Given the description of an element on the screen output the (x, y) to click on. 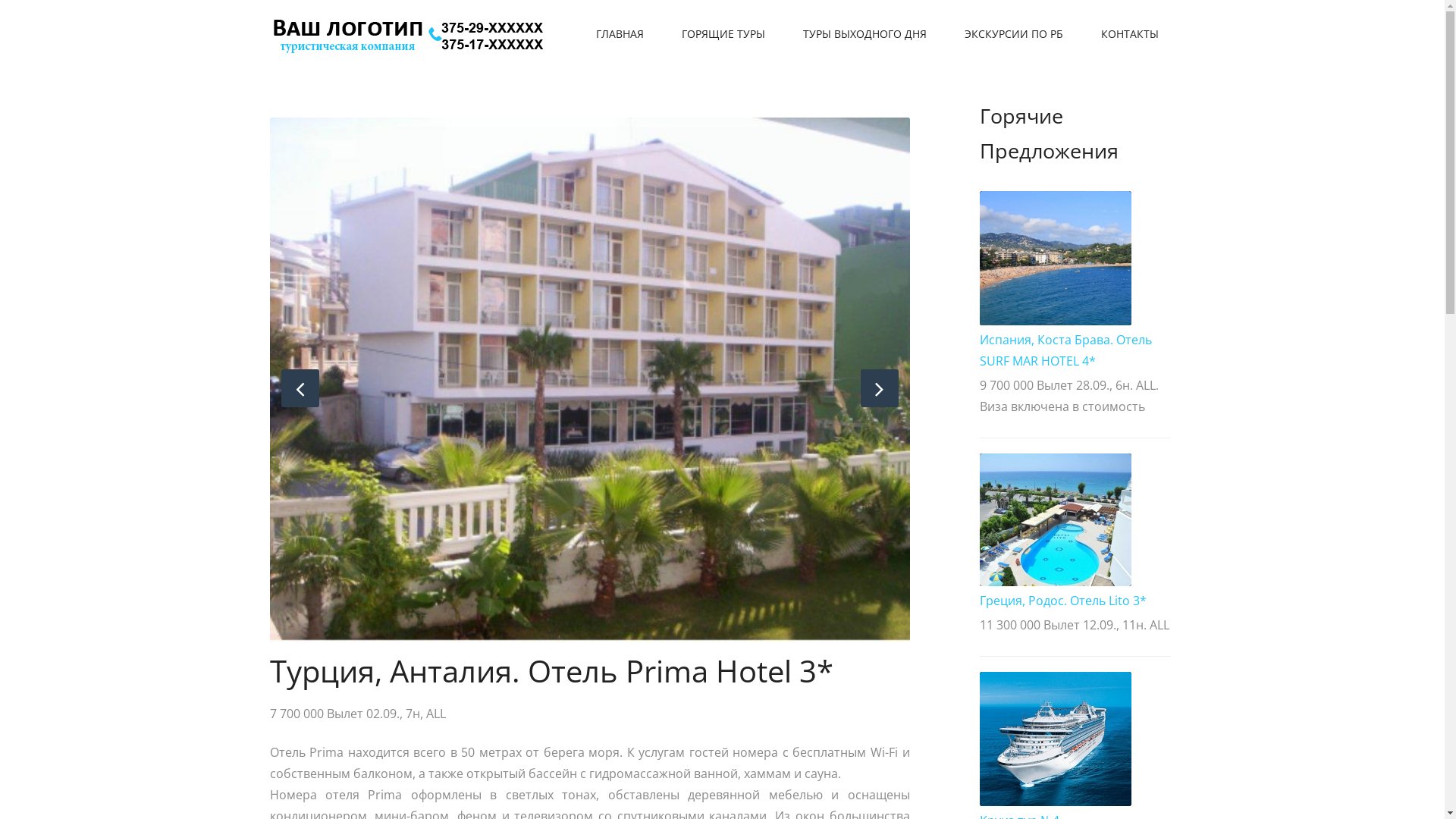
next Element type: hover (878, 388)
previous Element type: hover (299, 388)
